Given the description of an element on the screen output the (x, y) to click on. 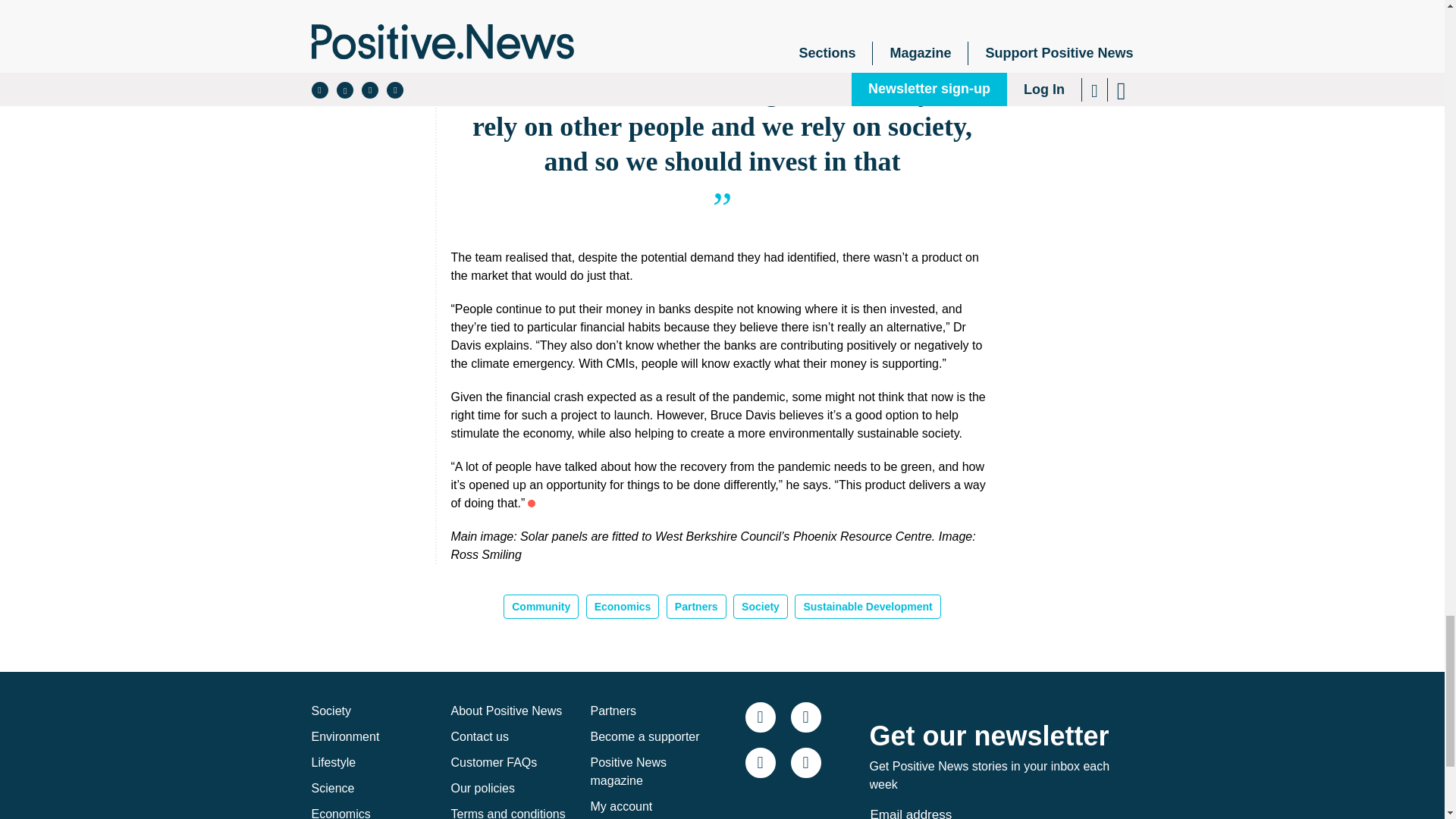
Economics (622, 606)
Community (540, 606)
